Given the description of an element on the screen output the (x, y) to click on. 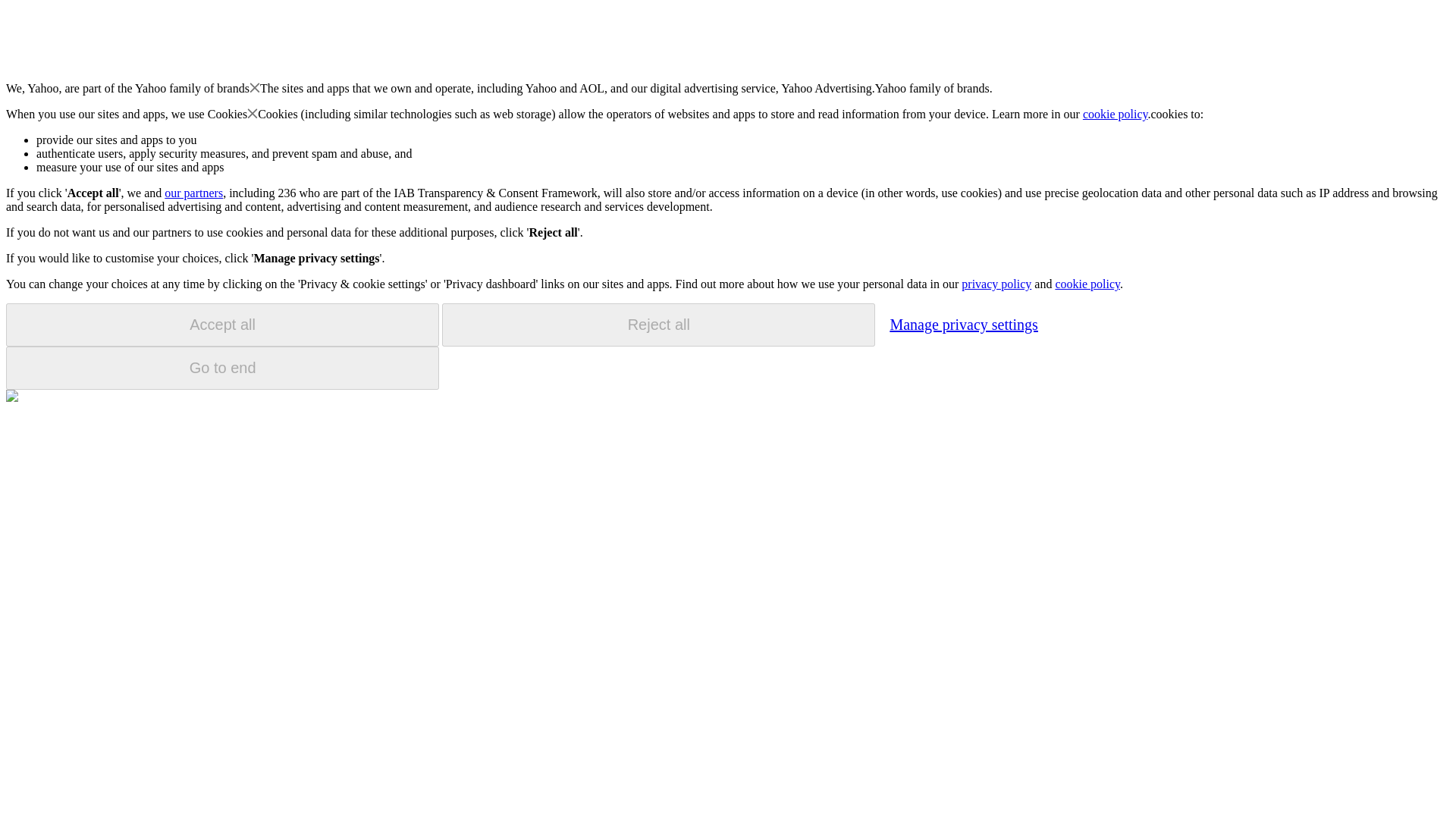
cookie policy (1086, 283)
Reject all (658, 324)
Go to end (222, 367)
Manage privacy settings (963, 323)
privacy policy (995, 283)
our partners (193, 192)
cookie policy (1115, 113)
Accept all (222, 324)
